Given the description of an element on the screen output the (x, y) to click on. 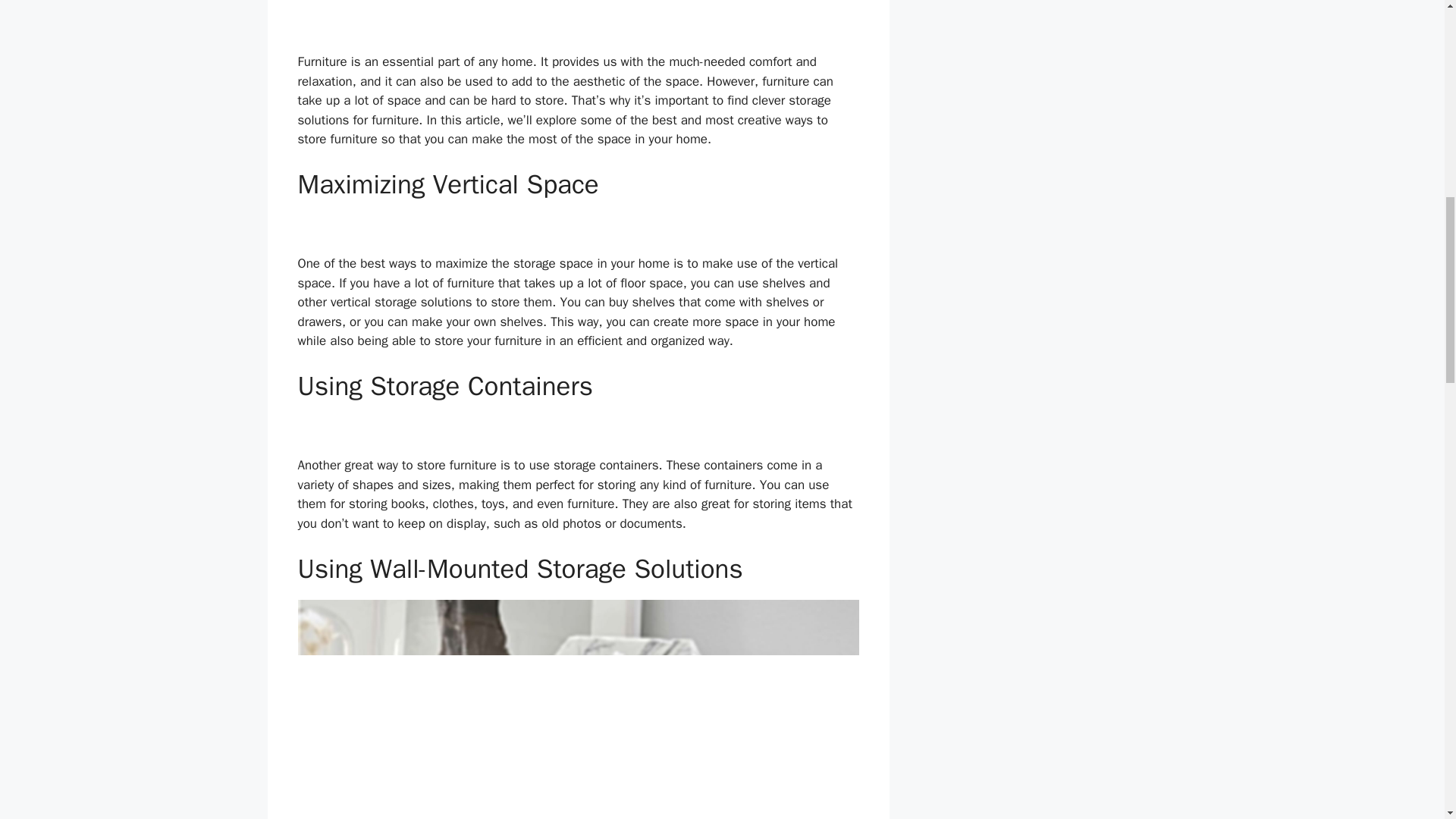
Clever Storage Solutions For Furniture (578, 709)
